Given the description of an element on the screen output the (x, y) to click on. 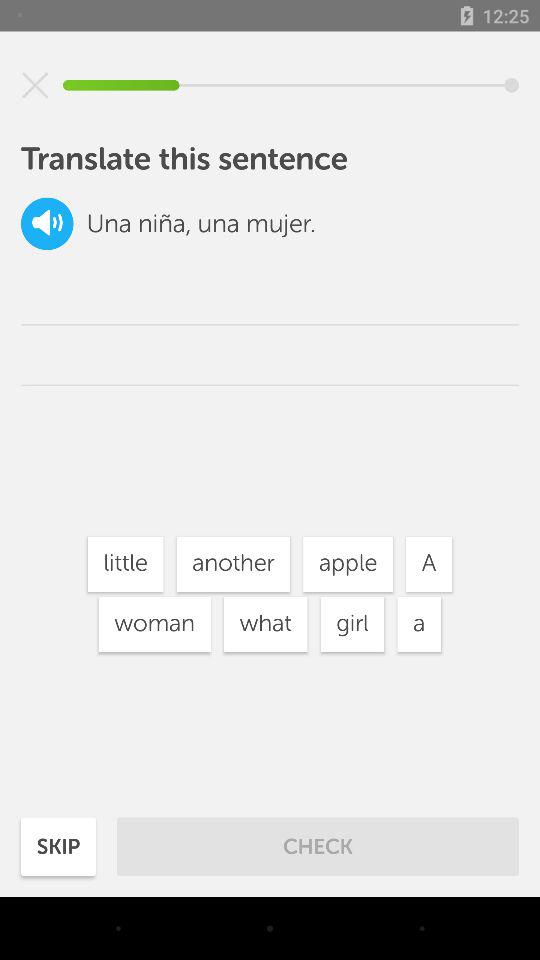
play audio (47, 223)
